Given the description of an element on the screen output the (x, y) to click on. 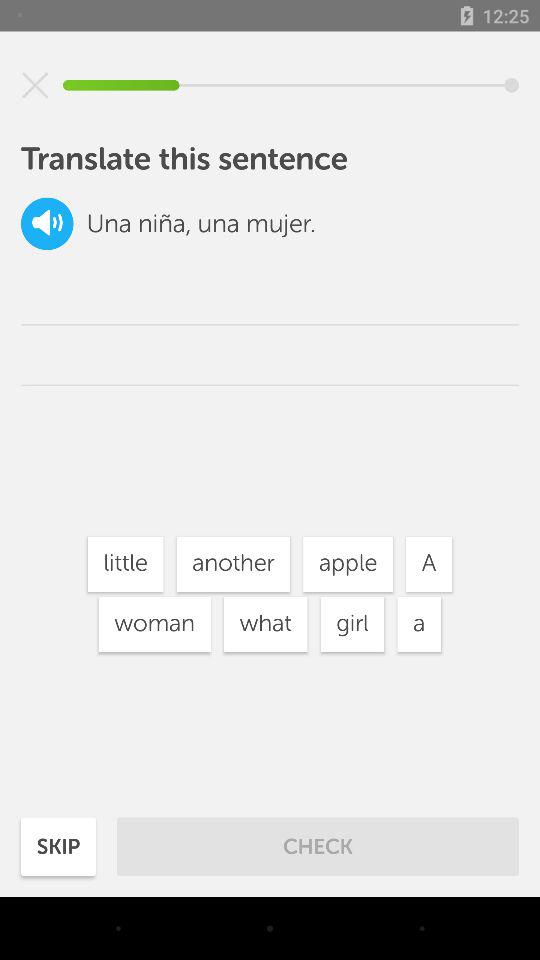
play audio (47, 223)
